Given the description of an element on the screen output the (x, y) to click on. 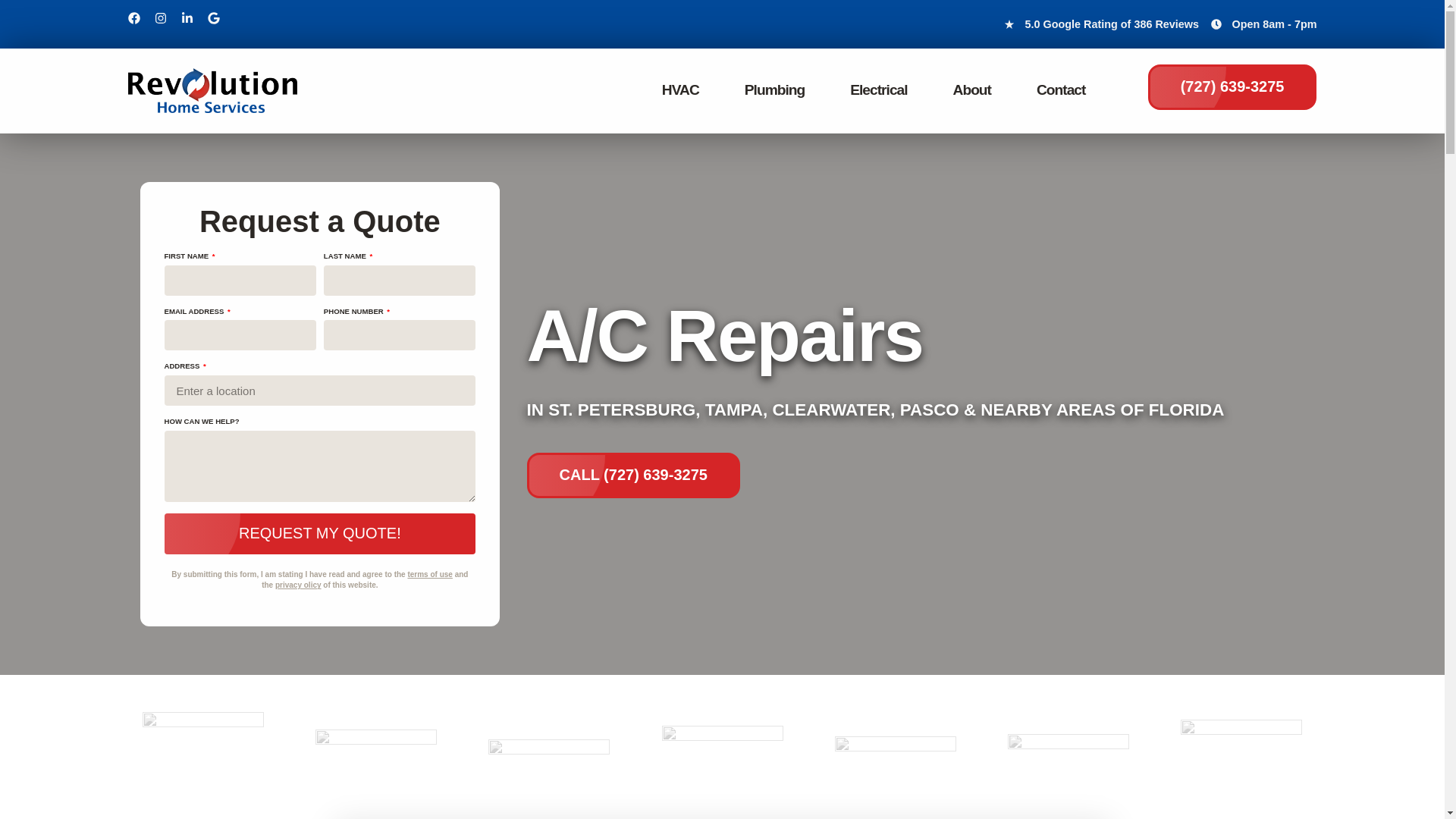
Contact (1061, 90)
About (971, 90)
Electrical (877, 90)
Plumbing (774, 90)
HVAC (680, 90)
5.0 Google Rating of 386 Reviews (1101, 24)
